Given the description of an element on the screen output the (x, y) to click on. 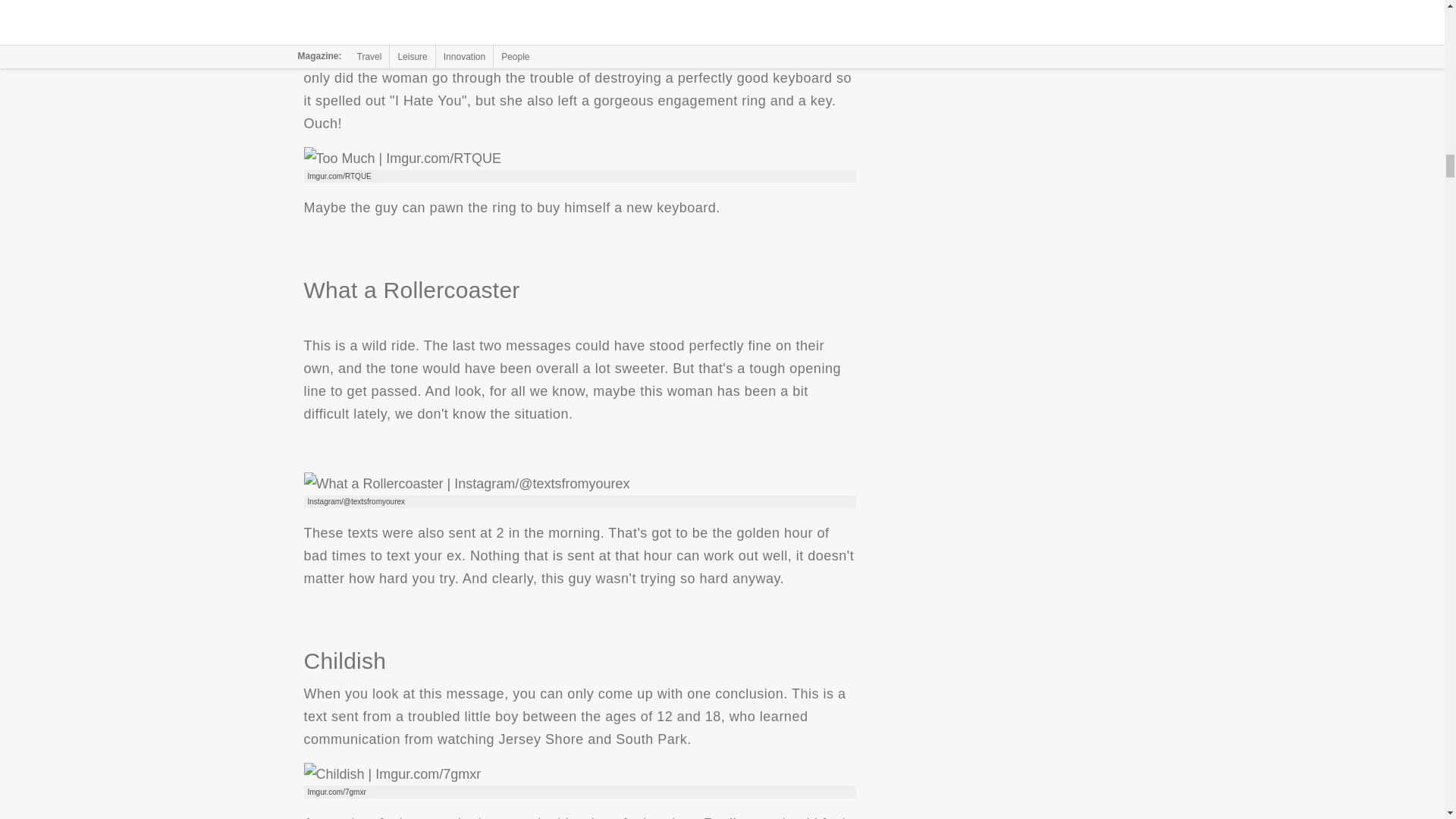
Childish (391, 773)
Too Much (401, 158)
What a Rollercoaster (465, 483)
